Given the description of an element on the screen output the (x, y) to click on. 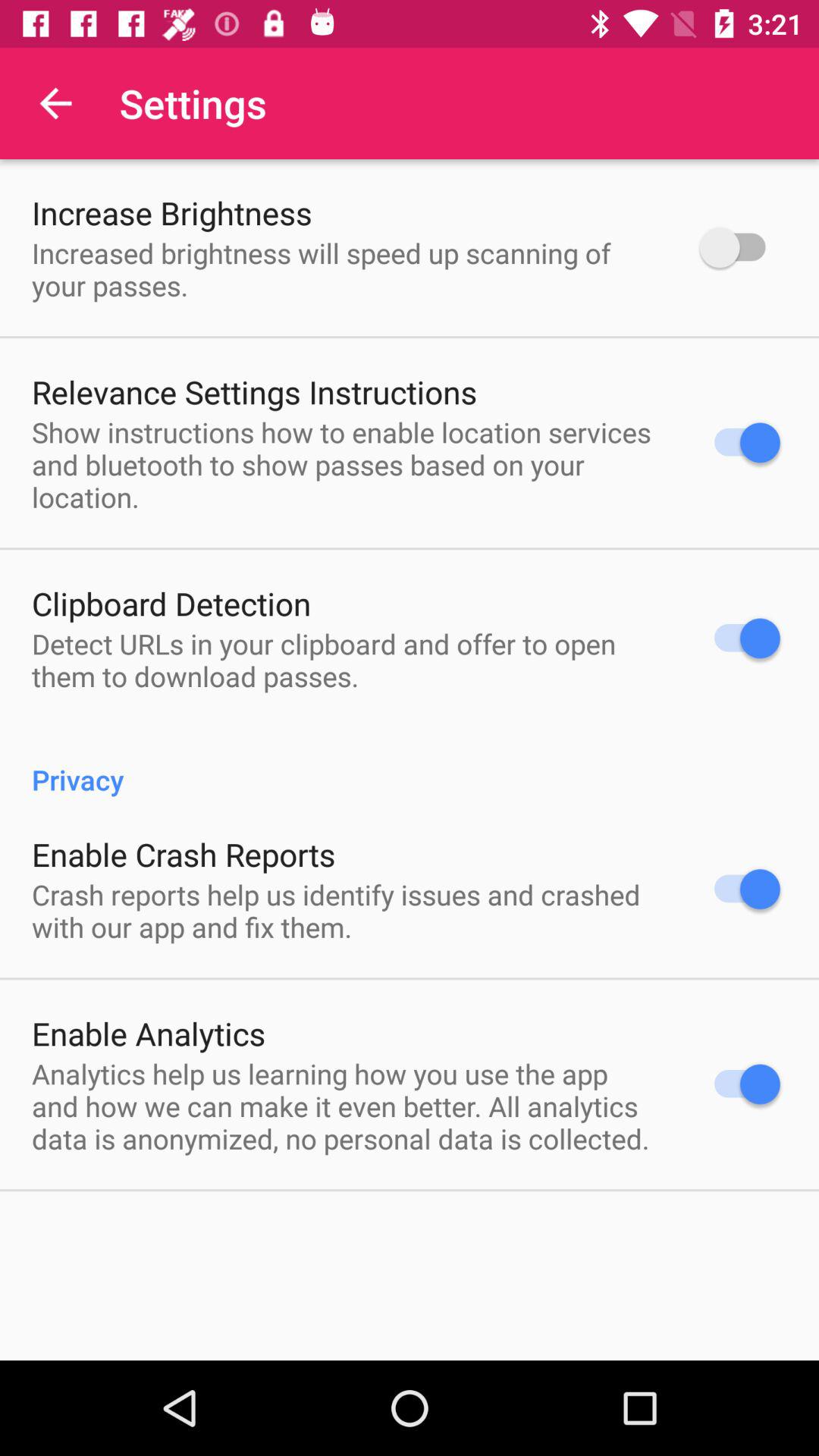
flip to the clipboard detection (171, 603)
